Given the description of an element on the screen output the (x, y) to click on. 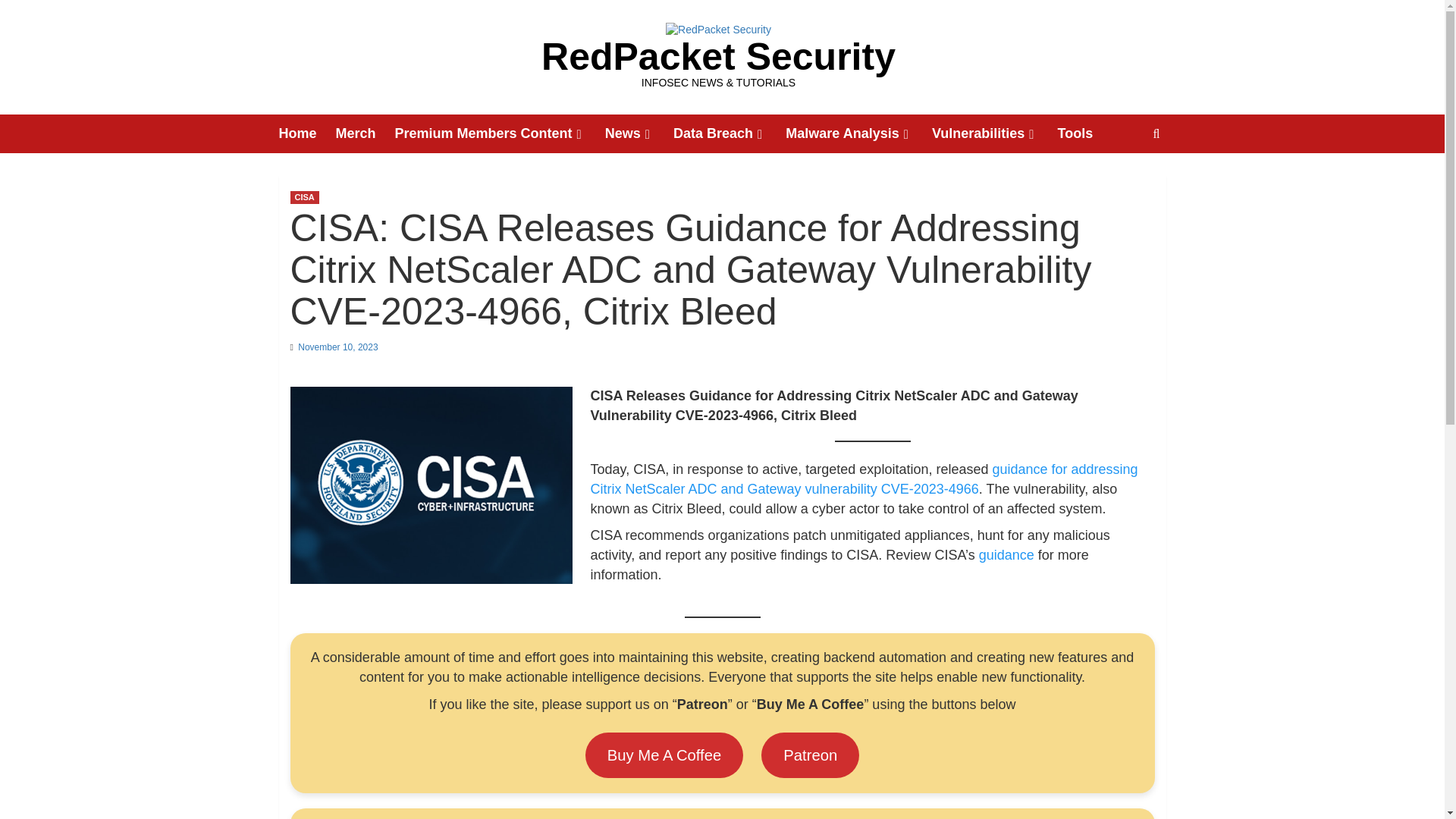
Premium Members Content (499, 133)
Tools (1085, 133)
Data Breach (729, 133)
Search (1120, 180)
November 10, 2023 (337, 347)
Vulnerabilities (994, 133)
Merch (365, 133)
CISA (303, 196)
News (638, 133)
Malware Analysis (858, 133)
RedPacket Security (718, 56)
Home (307, 133)
